Given the description of an element on the screen output the (x, y) to click on. 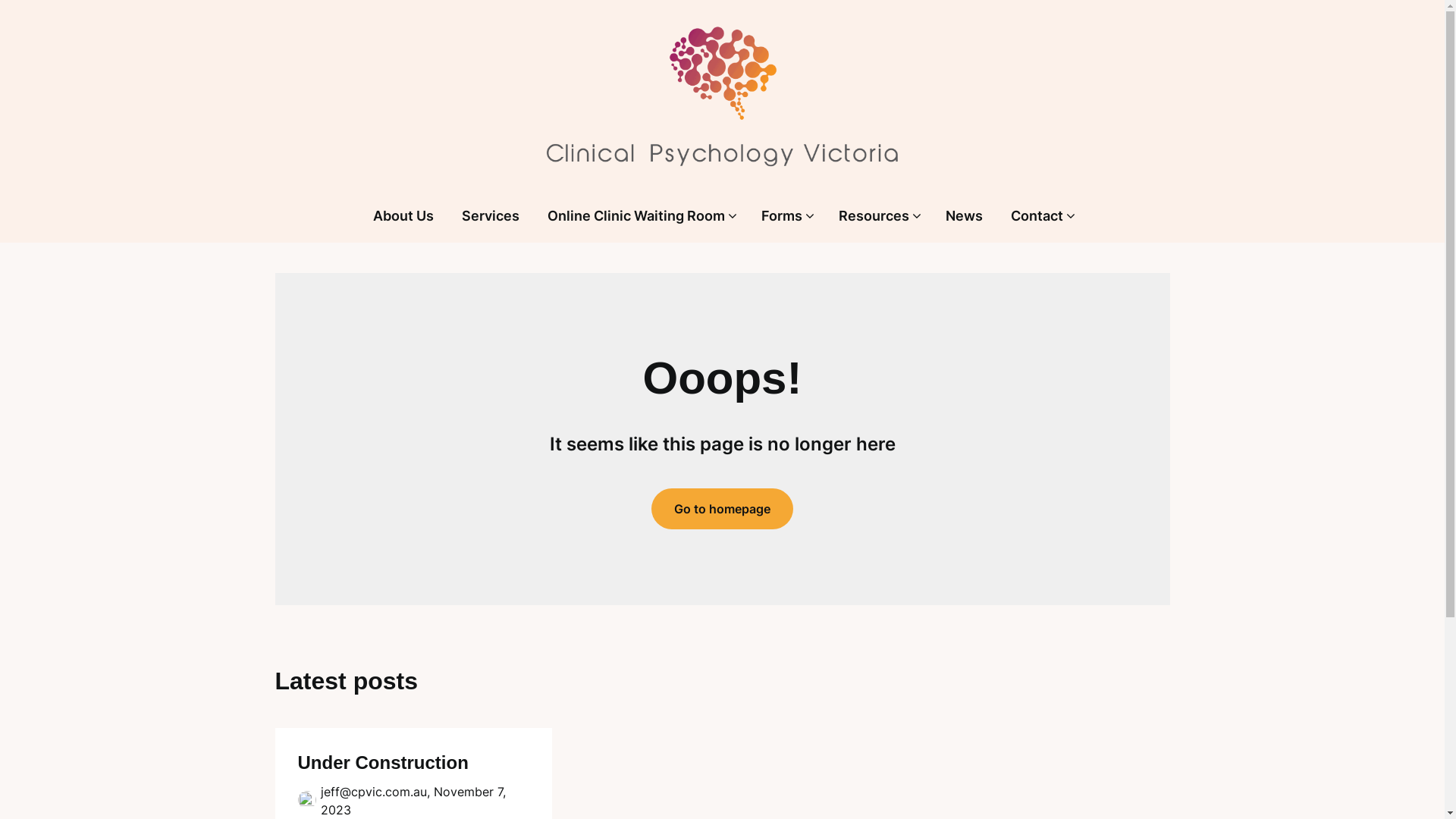
Online Clinic Waiting Room Element type: text (636, 216)
News Element type: text (963, 216)
November 7, 2023 Element type: text (412, 800)
Forms Element type: text (781, 216)
Resources Element type: text (873, 216)
Contact Element type: text (1036, 216)
Services Element type: text (490, 216)
Under Construction Element type: text (382, 762)
About Us Element type: text (402, 216)
Go to homepage Element type: text (722, 508)
